Given the description of an element on the screen output the (x, y) to click on. 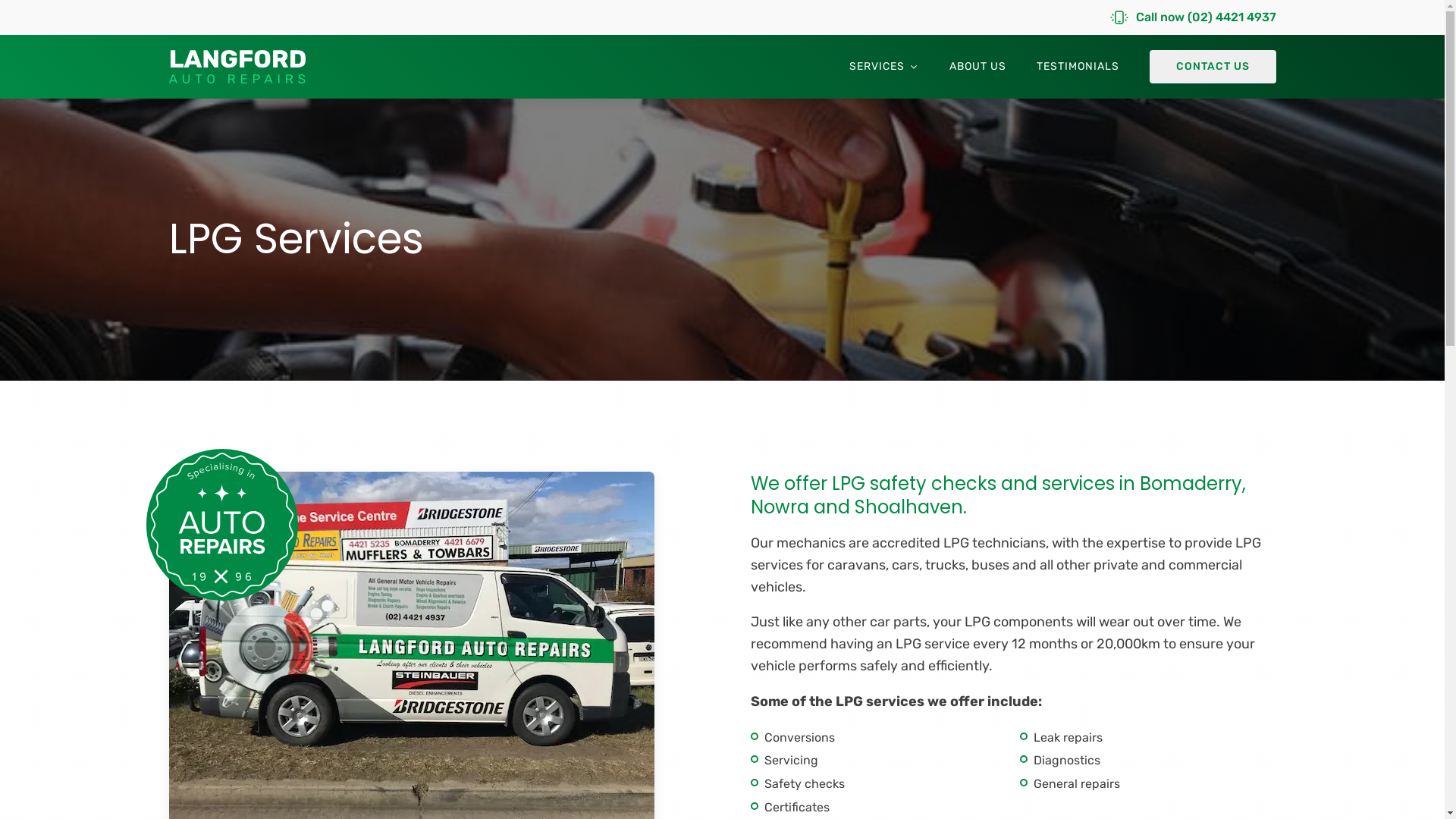
CONTACT US Element type: text (1212, 66)
SERVICES Element type: text (884, 66)
ABOUT US Element type: text (977, 66)
TESTIMONIALS Element type: text (1076, 66)
Call now (02) 4421 4937 Element type: text (1193, 17)
